Given the description of an element on the screen output the (x, y) to click on. 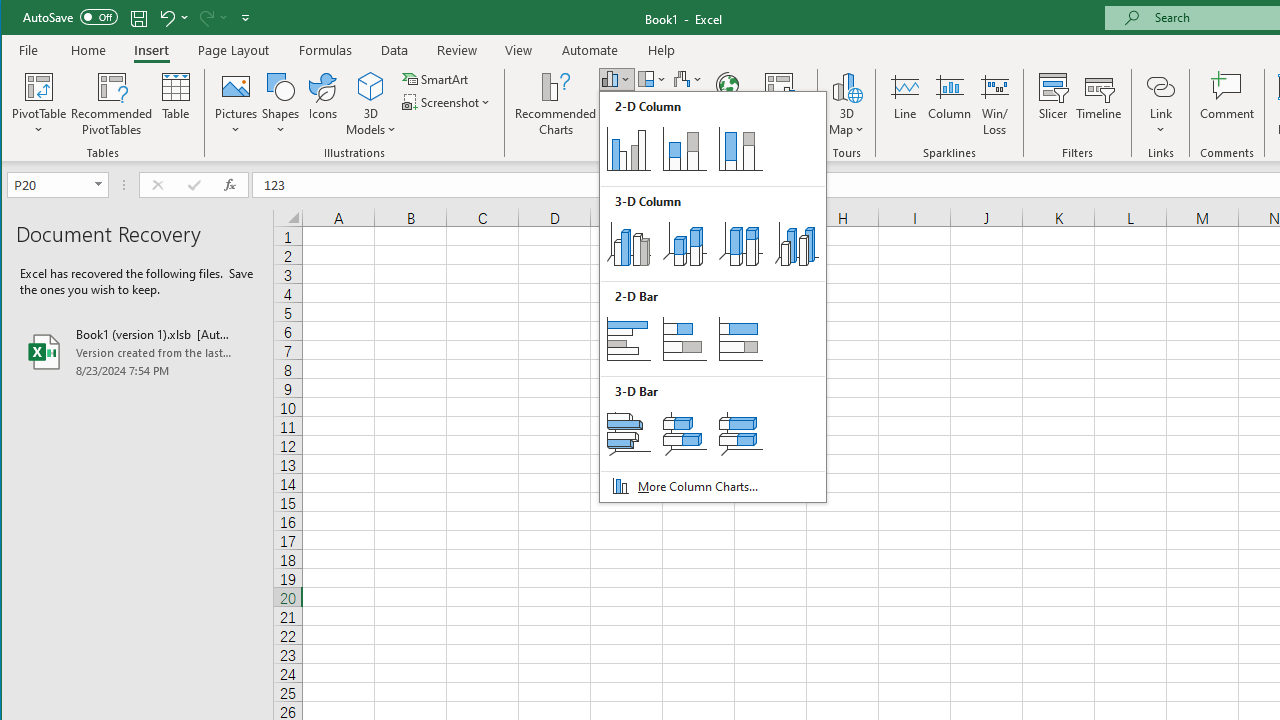
Redo (211, 17)
More Options (1160, 123)
Undo (172, 17)
Insert Column or Bar Chart (616, 78)
Link (1160, 104)
System (19, 18)
Screenshot (447, 101)
Book1 (version 1).xlsb  [AutoRecovered] (137, 352)
Timeline (1098, 104)
&Insert Column or Bar Chart (712, 296)
Customize Quick Access Toolbar (245, 17)
Slicer... (1052, 104)
3D Models (371, 104)
3D Models (371, 86)
